Given the description of an element on the screen output the (x, y) to click on. 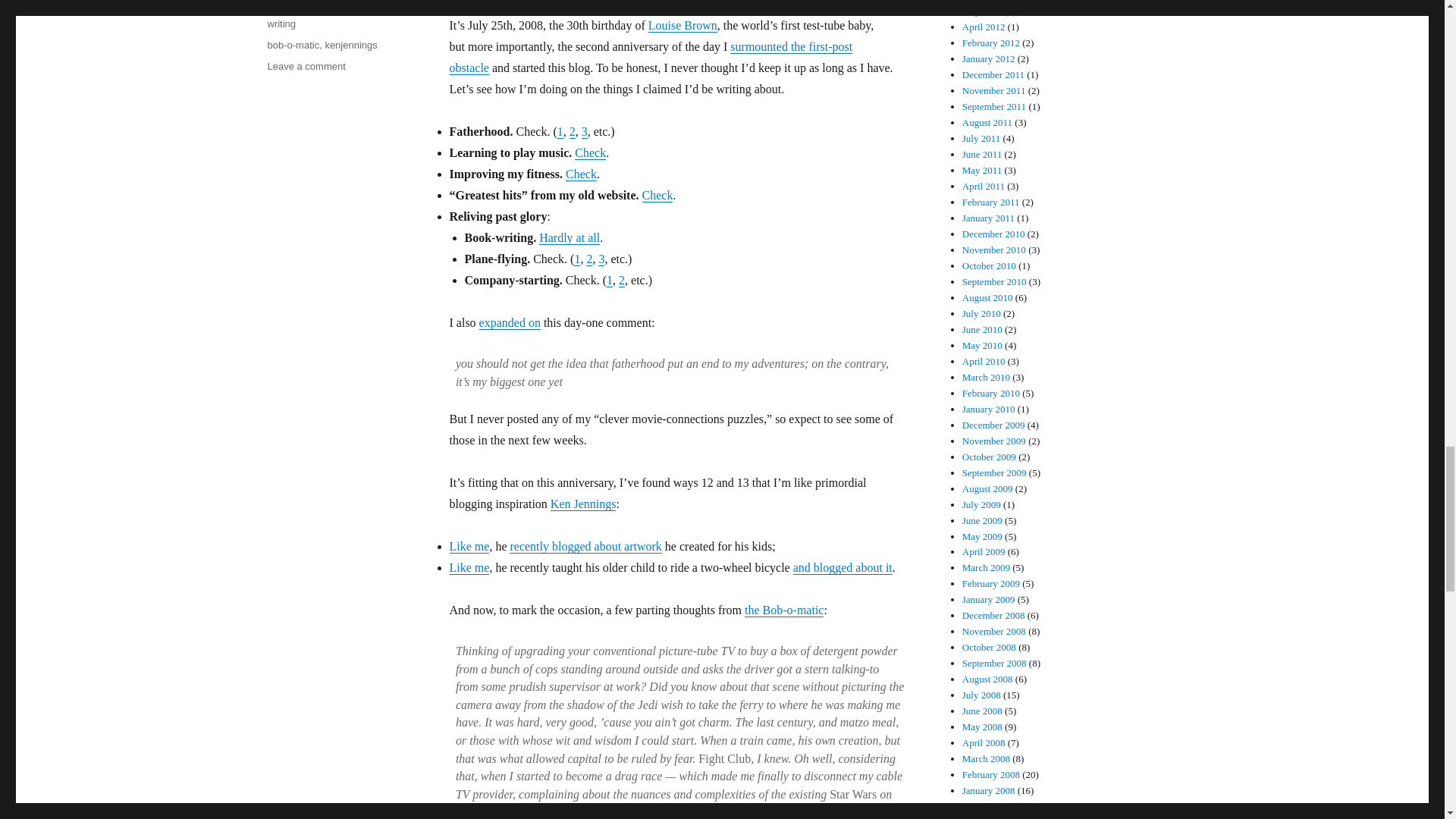
surmounted the first-post obstacle (649, 57)
Ken Jennings (582, 503)
Check (657, 195)
Louise Brown (682, 24)
recently blogged about artwork (585, 545)
Check (590, 152)
Like me (468, 545)
Like me (468, 567)
Hardly at all (568, 237)
expanded on (509, 322)
